Given the description of an element on the screen output the (x, y) to click on. 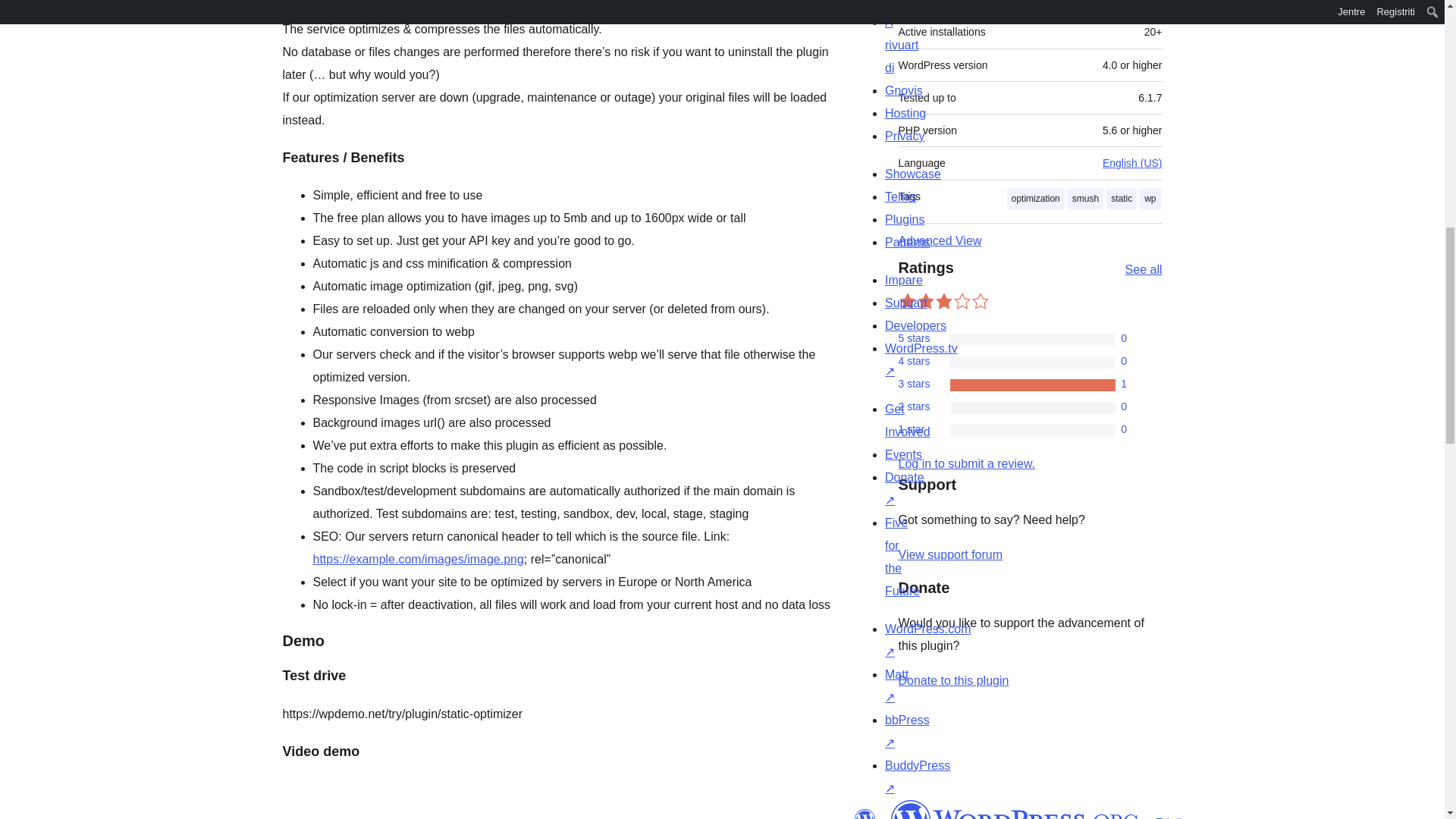
Log in to WordPress.org (966, 463)
WordPress.org (1014, 809)
WordPress.org (864, 814)
